Given the description of an element on the screen output the (x, y) to click on. 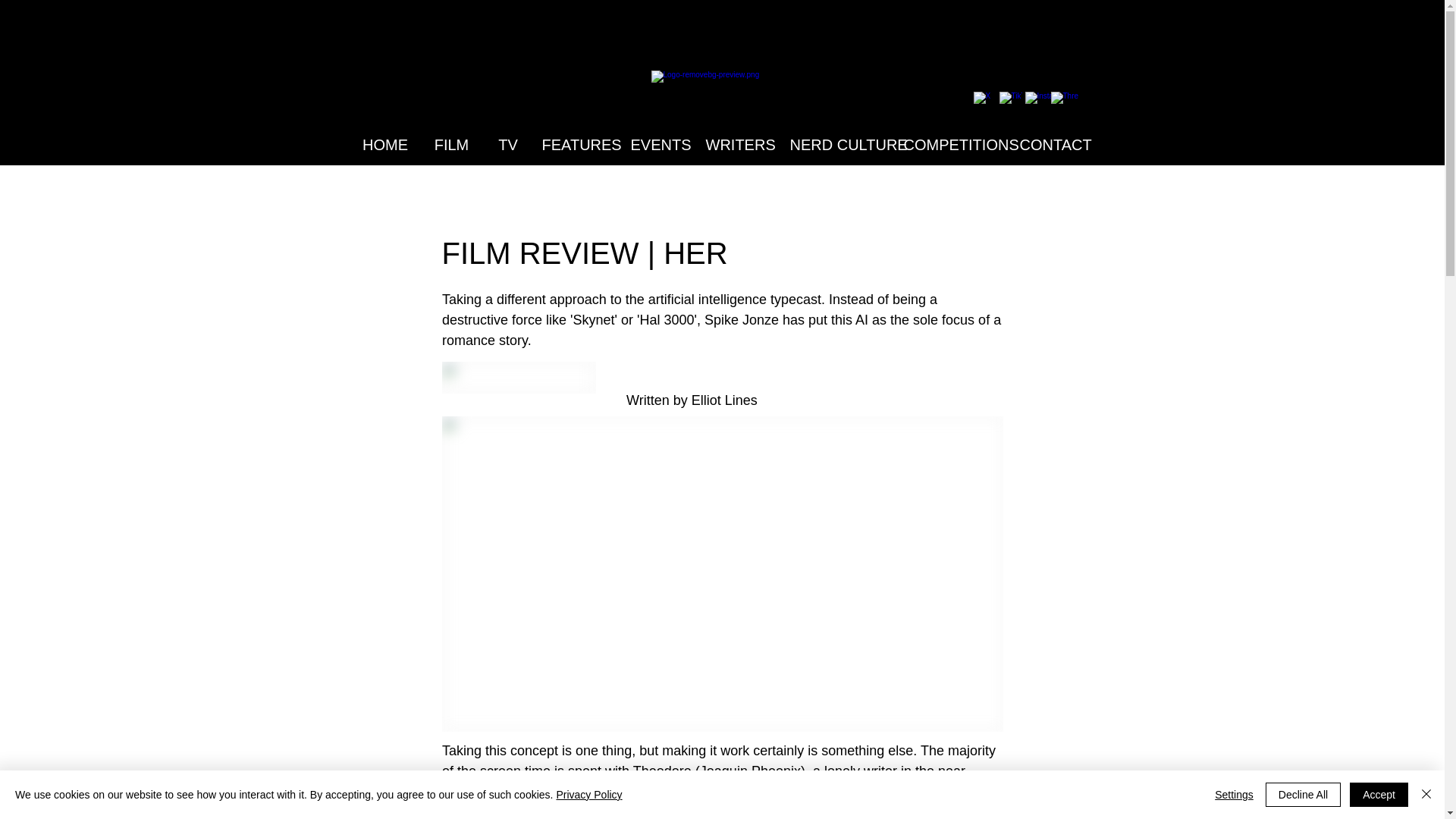
NERD CULTURE (837, 144)
HOME (384, 144)
FEATURES (576, 144)
FILM (451, 144)
CONTACT (1052, 144)
WRITERS (737, 144)
EVENTS (659, 144)
TV (507, 144)
COMPETITIONS (952, 144)
